Given the description of an element on the screen output the (x, y) to click on. 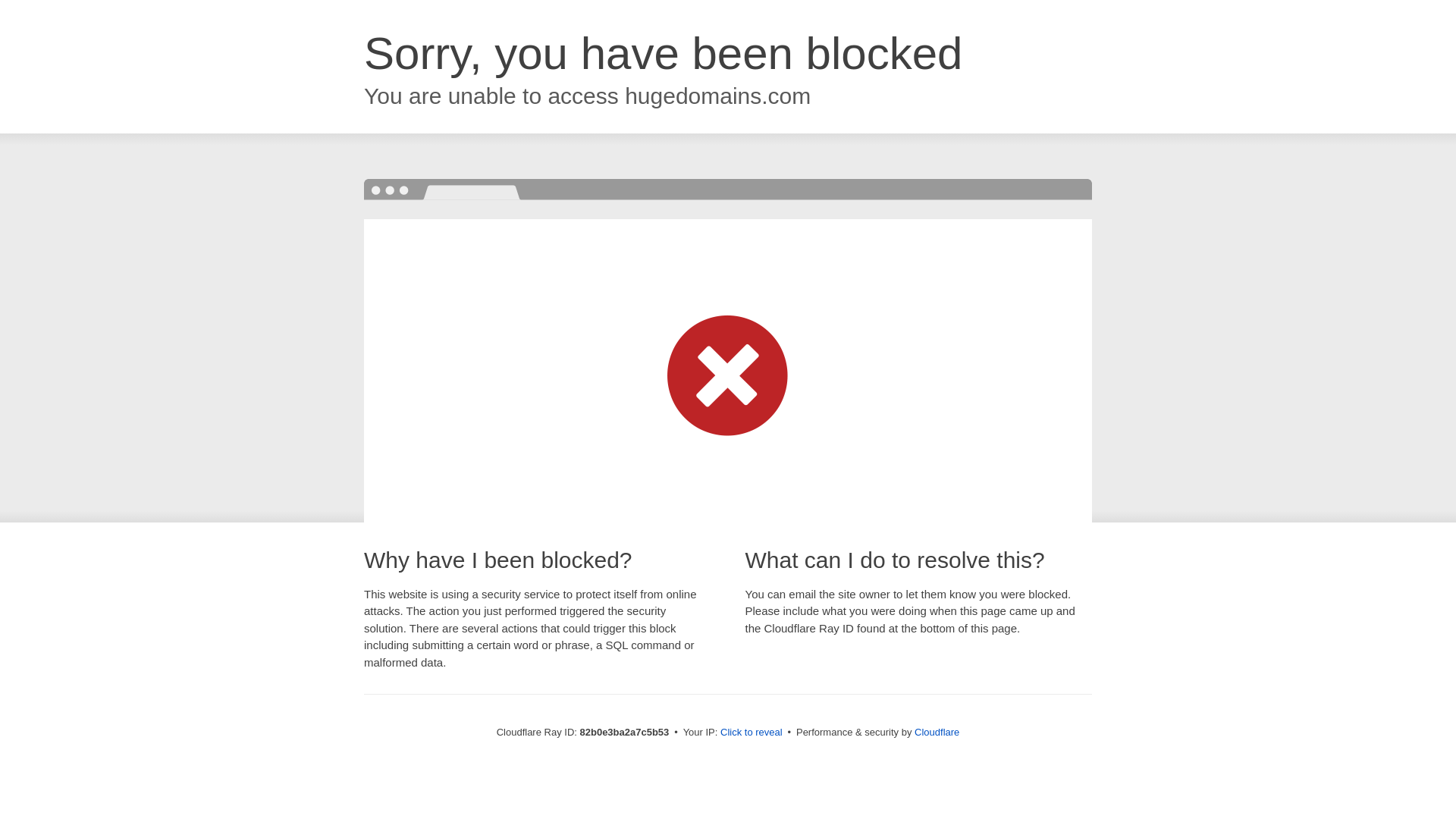
Cloudflare Element type: text (936, 731)
Click to reveal Element type: text (751, 732)
